Given the description of an element on the screen output the (x, y) to click on. 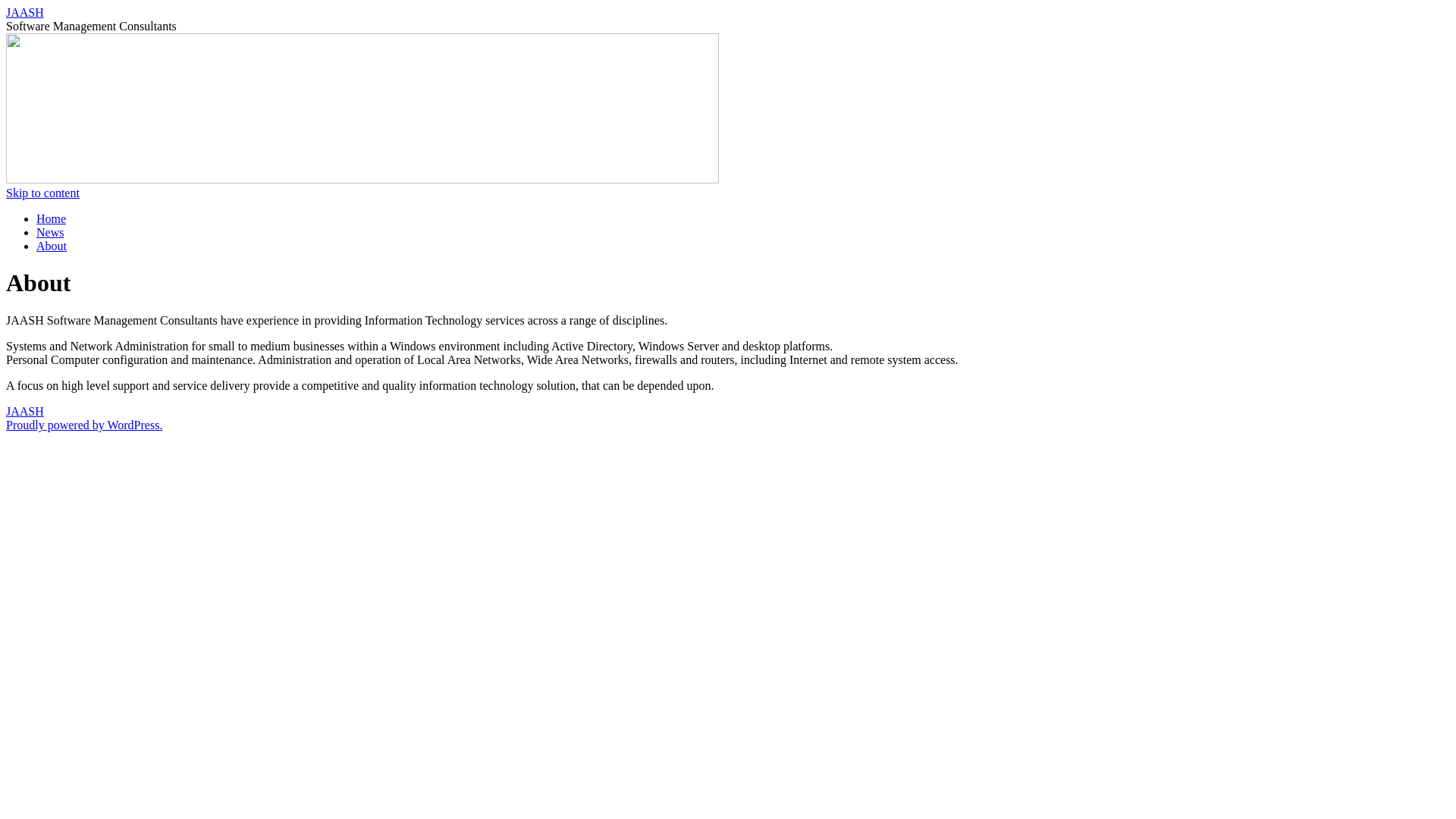
Proudly powered by WordPress. Element type: text (84, 424)
News Element type: text (49, 231)
Skip to content Element type: text (42, 192)
JAASH Element type: text (24, 410)
About Element type: text (51, 245)
JAASH Element type: text (24, 12)
Home Element type: text (50, 218)
